Given the description of an element on the screen output the (x, y) to click on. 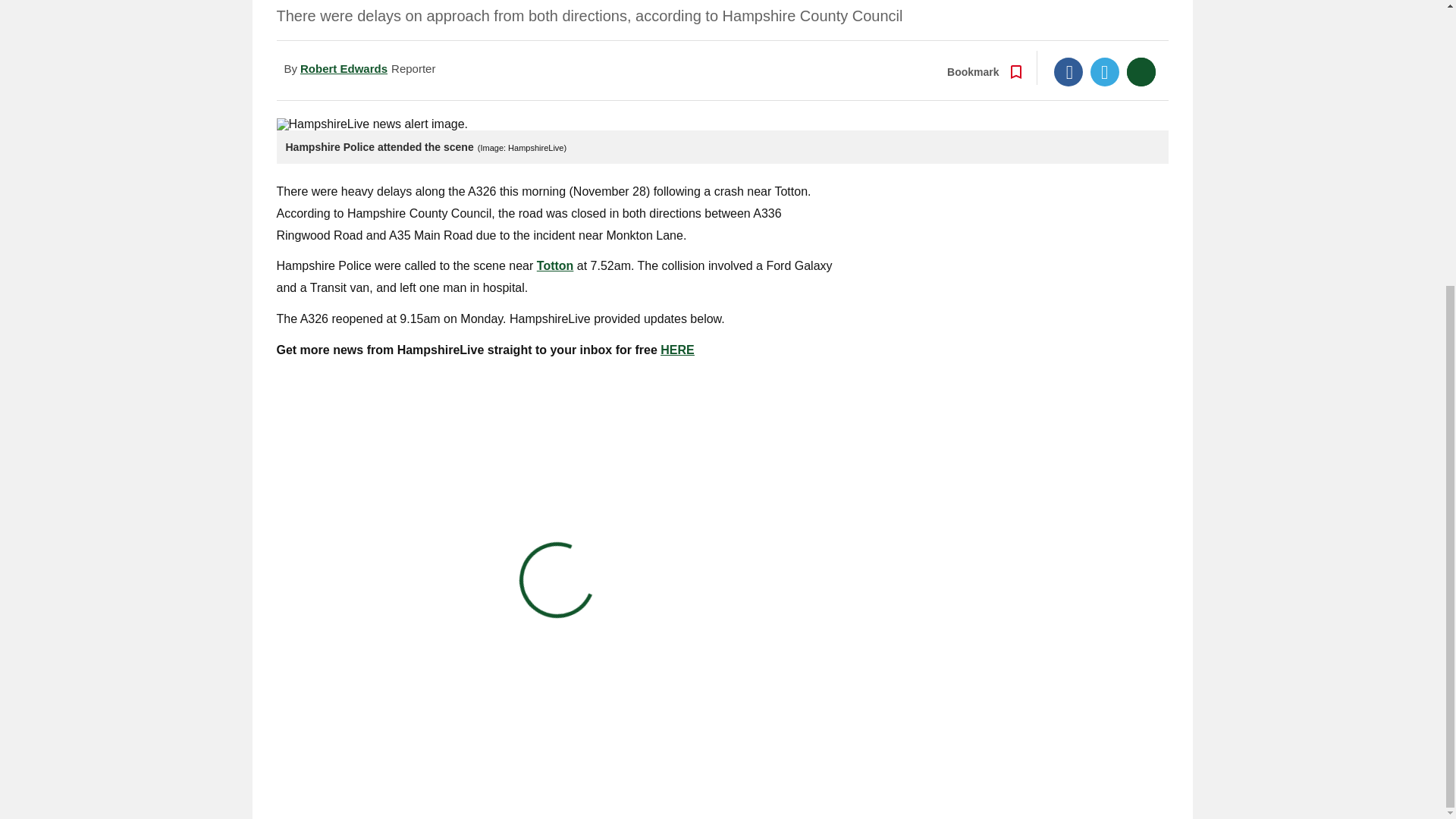
Twitter (1104, 71)
Facebook (1068, 71)
